Given the description of an element on the screen output the (x, y) to click on. 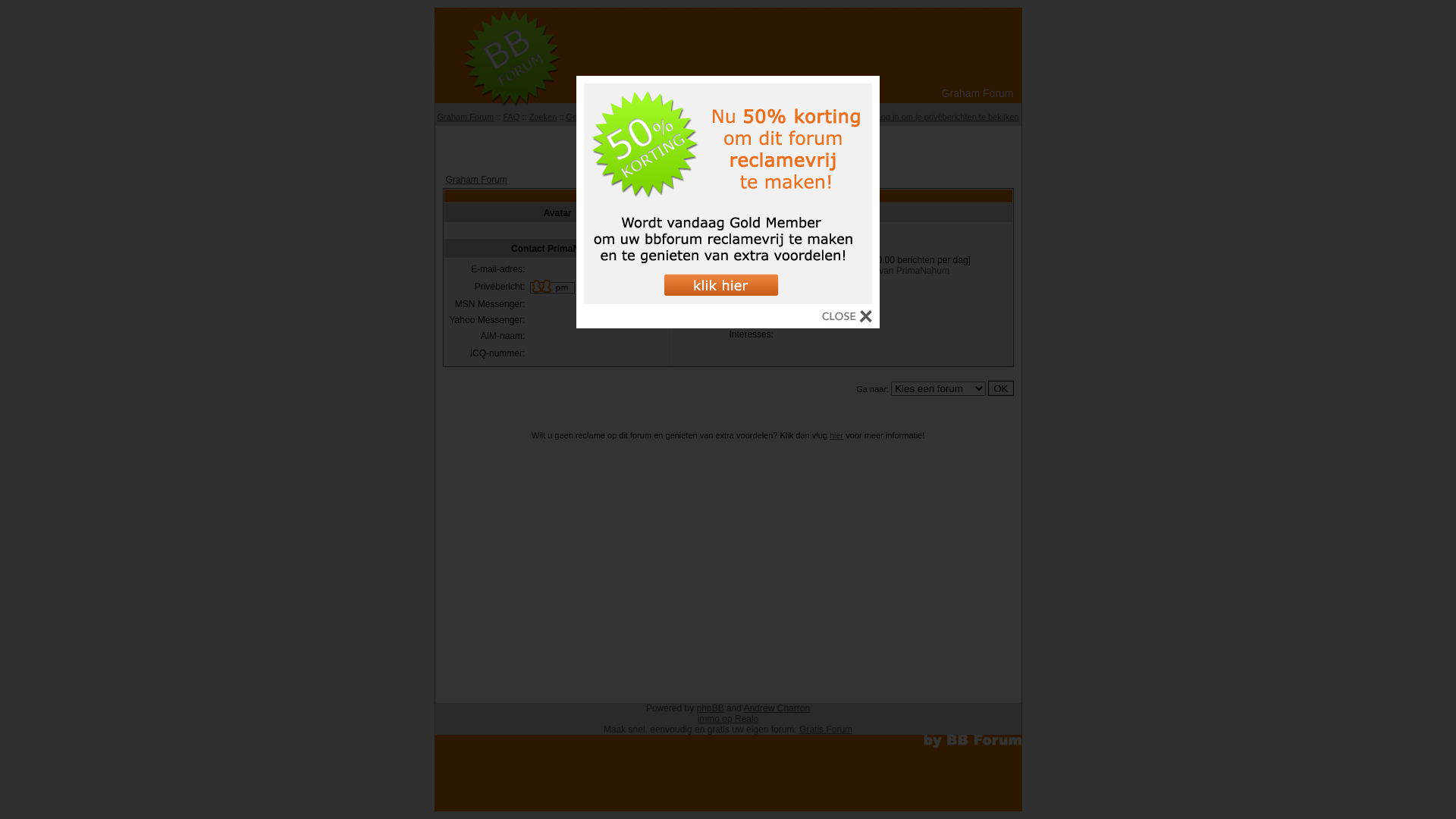
Gebruikersgroepen Element type: text (663, 116)
FAQ Element type: text (510, 116)
klik voor meer informatie Element type: hover (727, 299)
Zoek naar alle berichten van PrimaNahum Element type: text (863, 270)
Andrew Charron Element type: text (776, 707)
immo op Realo Element type: text (728, 718)
OK Element type: text (1000, 387)
Registreren Element type: text (771, 116)
Gratis Forum Element type: text (825, 729)
Profiel Element type: text (854, 116)
Zoeken Element type: text (543, 116)
Viraal Nieuws Element type: text (727, 144)
Inloggen Element type: text (818, 116)
Graham Forum Element type: text (476, 179)
phpBB Element type: text (710, 707)
hier Element type: text (836, 434)
Graham Forum Element type: text (465, 116)
Gebruikerslijst Element type: text (592, 116)
sluiten Element type: hover (847, 318)
